Given the description of an element on the screen output the (x, y) to click on. 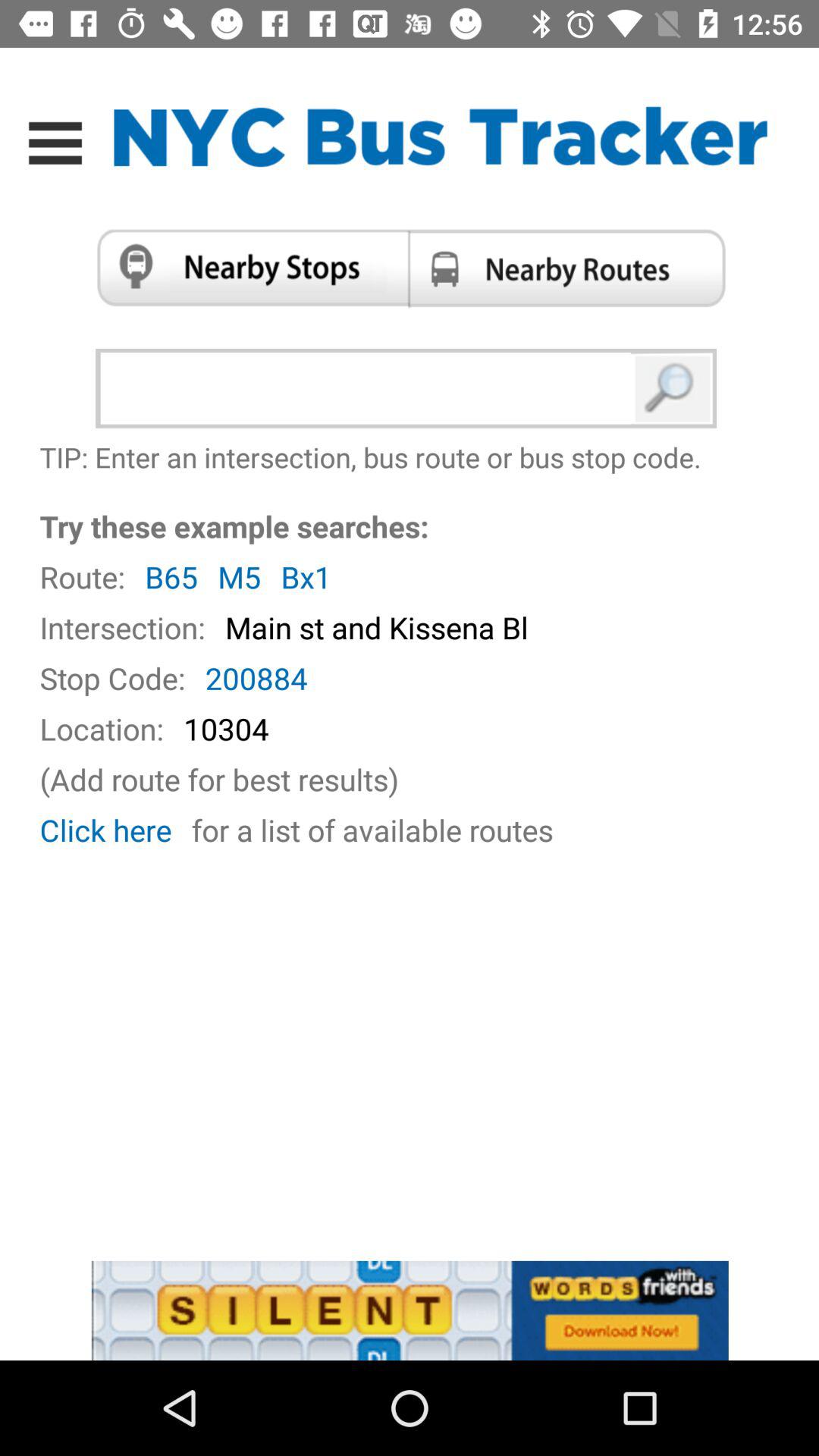
stop of peace (246, 267)
